Given the description of an element on the screen output the (x, y) to click on. 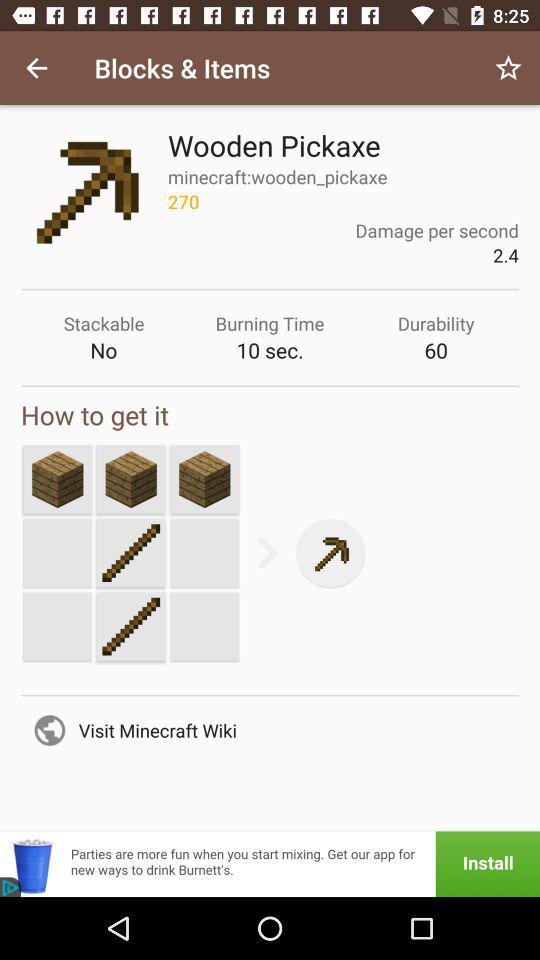
click to select box (204, 479)
